Given the description of an element on the screen output the (x, y) to click on. 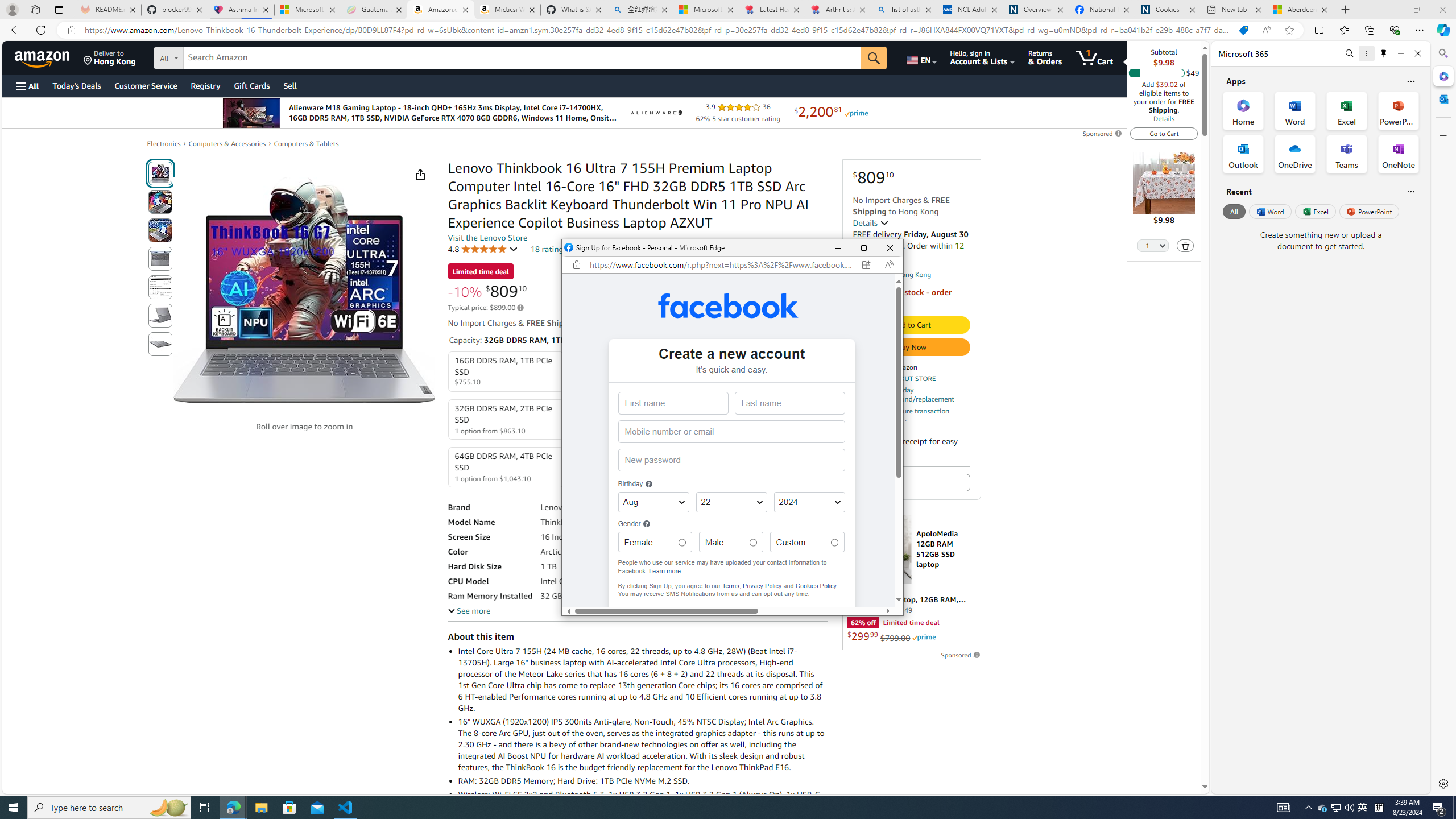
Teams Office App (1346, 154)
Hello, sign in Account & Lists (982, 57)
Go to Cart (1163, 133)
All (1233, 210)
Electronics (163, 143)
Choose a language for shopping. (920, 57)
Open Menu (26, 86)
Mobile number or email (730, 431)
Visit the Lenovo Store (486, 237)
Quantity Selector (1153, 246)
Facebook (727, 305)
